Given the description of an element on the screen output the (x, y) to click on. 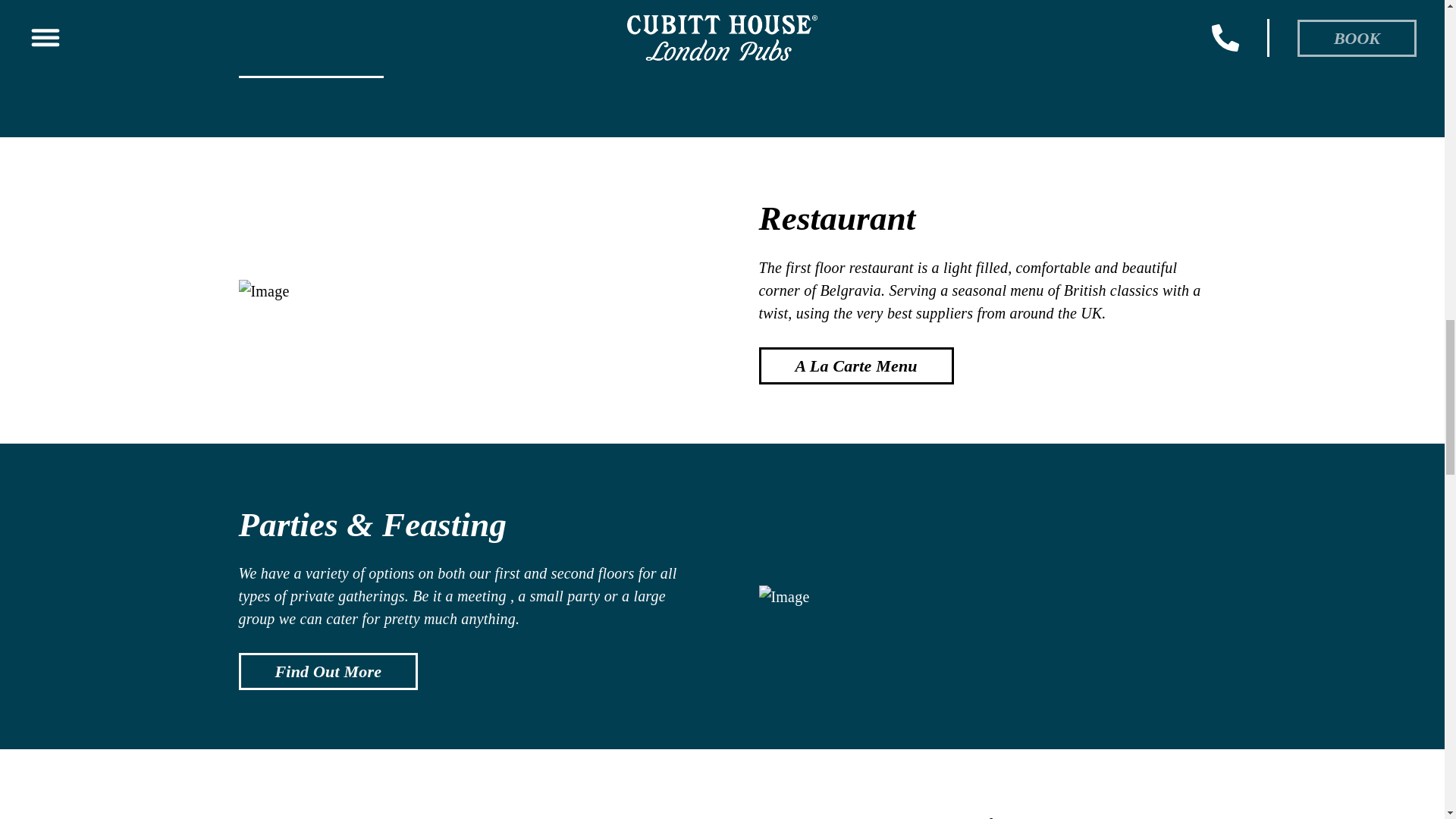
A La Carte Menu (855, 365)
Bar Menu (310, 58)
Find Out More (327, 671)
